Given the description of an element on the screen output the (x, y) to click on. 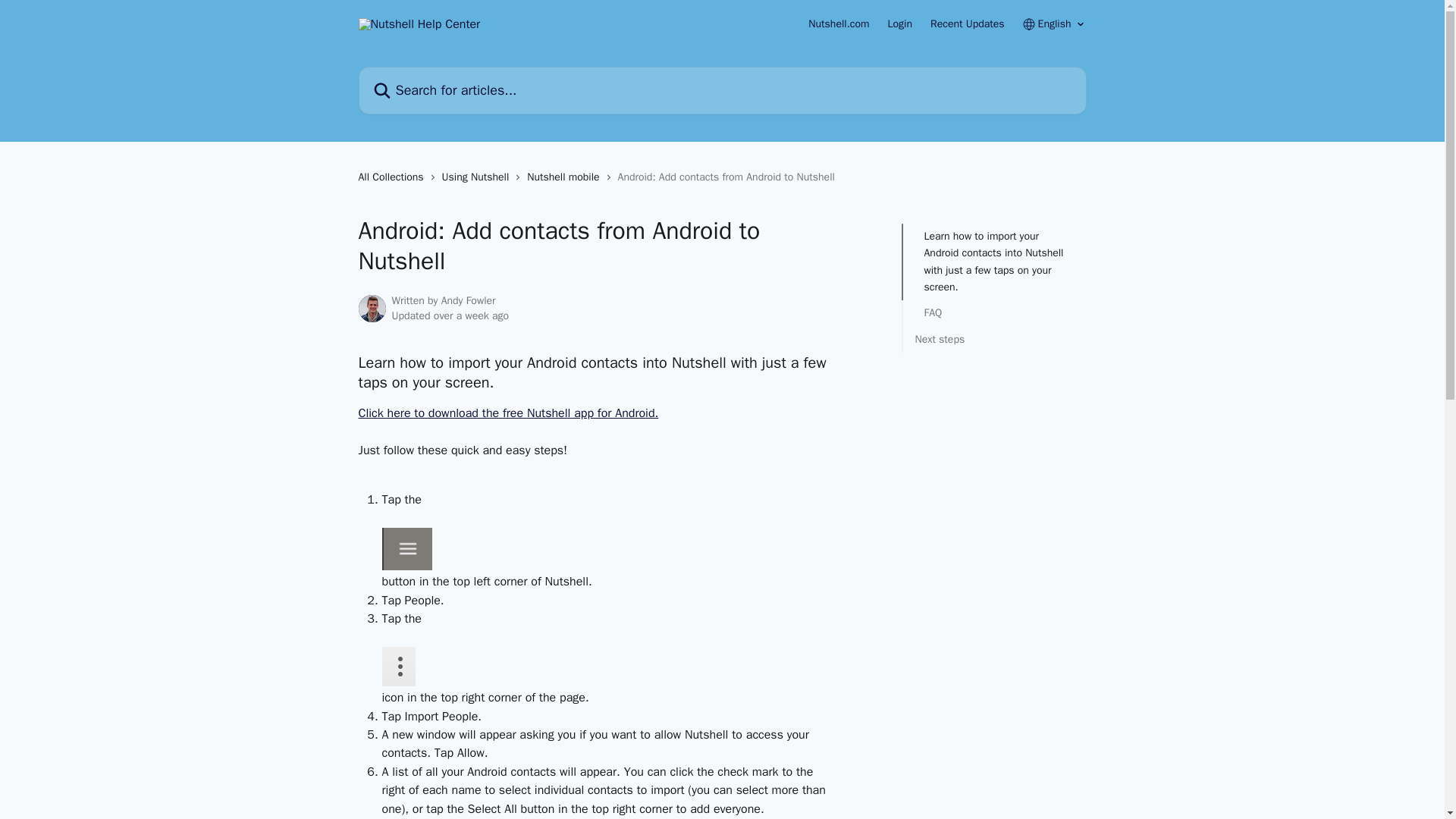
All Collections (393, 176)
Login (900, 23)
Using Nutshell (478, 176)
Recent Updates (967, 23)
Click here to download the free Nutshell app for Android. (508, 412)
Nutshell.com (838, 23)
Nutshell mobile (566, 176)
Next steps (994, 339)
FAQ (993, 312)
